Given the description of an element on the screen output the (x, y) to click on. 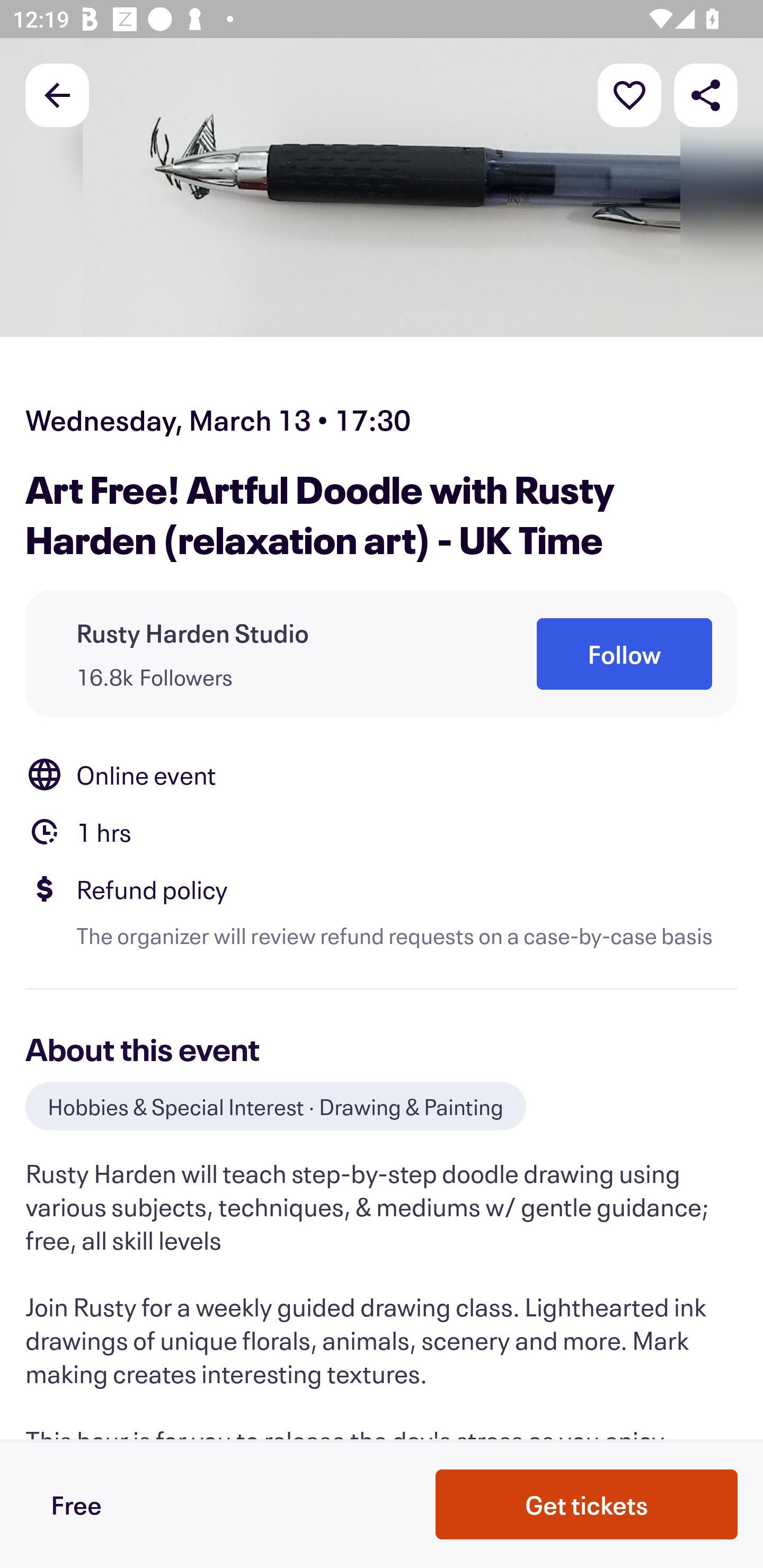
Back (57, 94)
More (629, 94)
Share (705, 94)
Rusty Harden Studio (192, 632)
Follow (623, 654)
Location Online event (381, 774)
Get tickets (586, 1504)
